Given the description of an element on the screen output the (x, y) to click on. 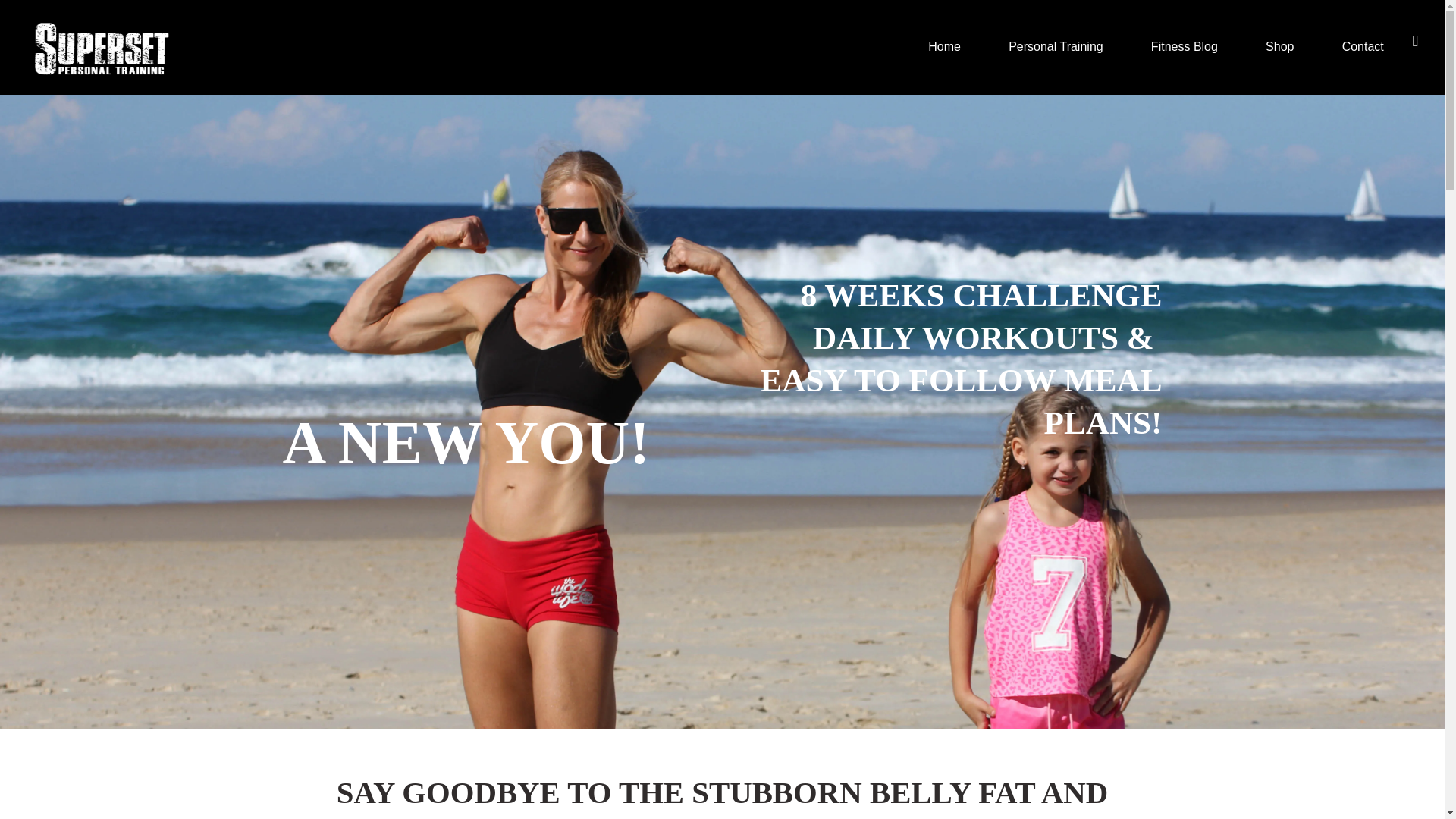
Shop (1280, 46)
Fitness Blog (1183, 46)
Home (944, 46)
Contact (1362, 46)
Personal Training (1055, 46)
